Given the description of an element on the screen output the (x, y) to click on. 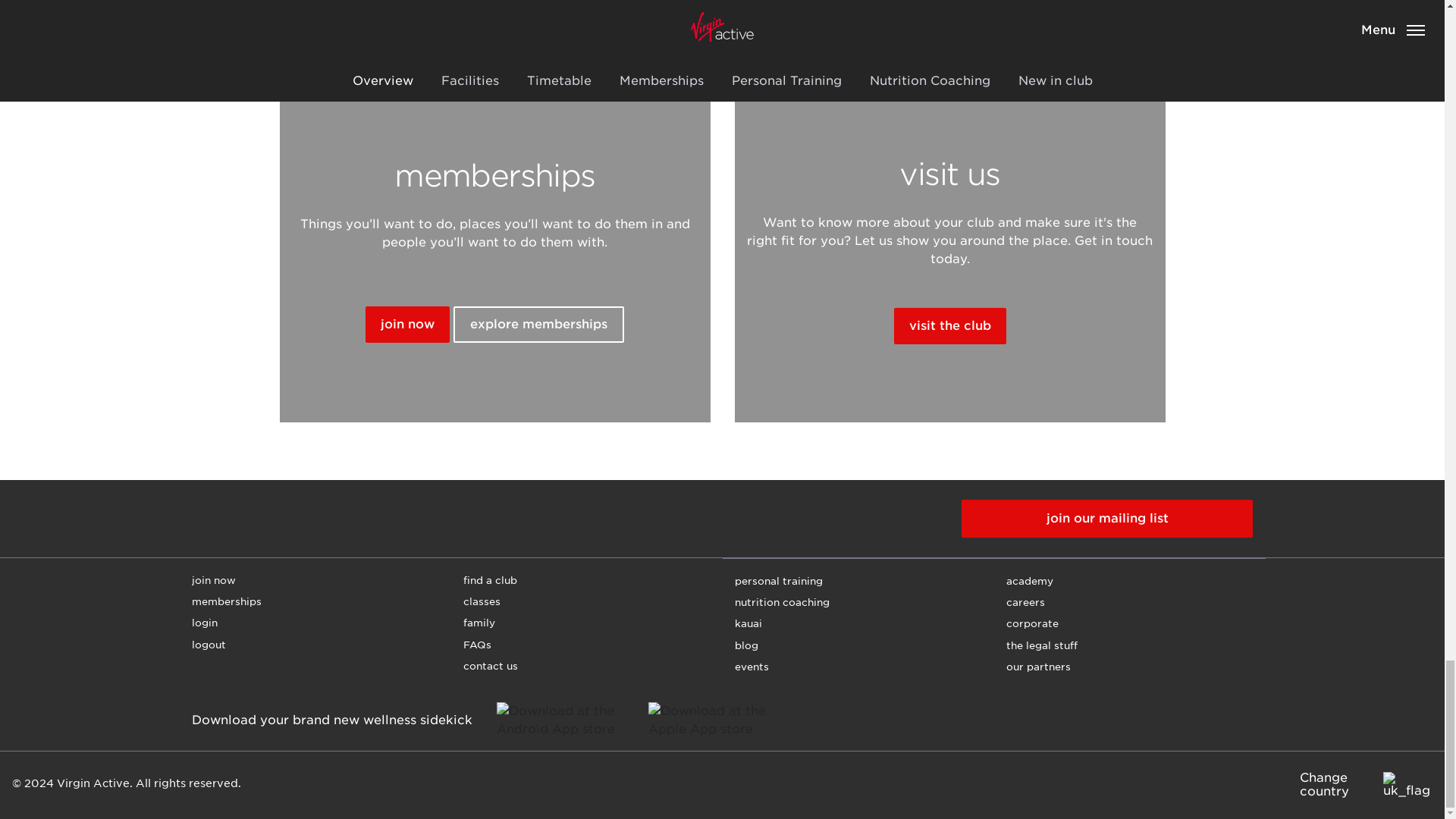
googleApp (569, 719)
appleAppIcon (720, 719)
